Given the description of an element on the screen output the (x, y) to click on. 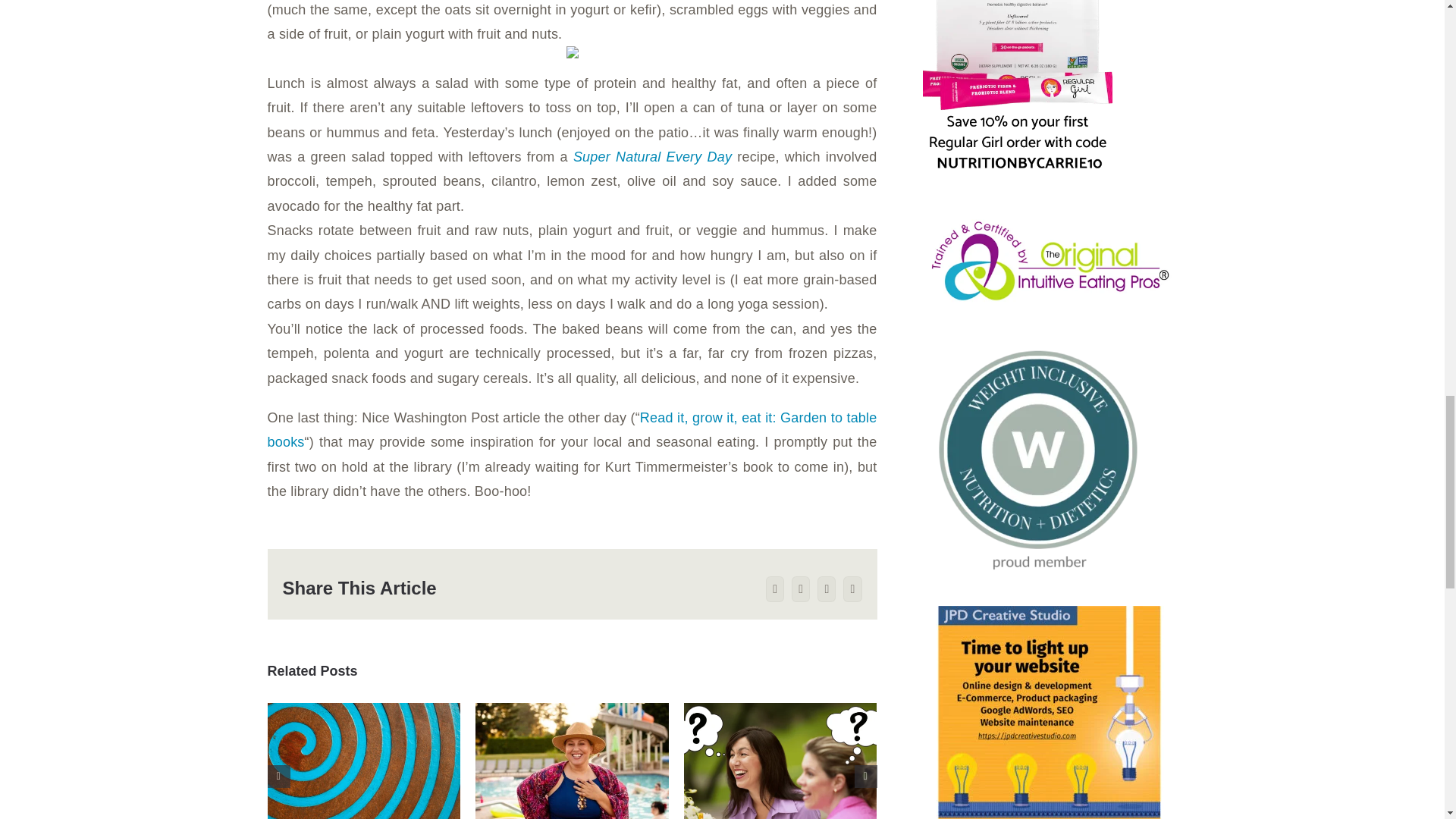
Super Natural Every Day (652, 156)
Read it, grow it, eat it: Garden to table books (571, 429)
